Given the description of an element on the screen output the (x, y) to click on. 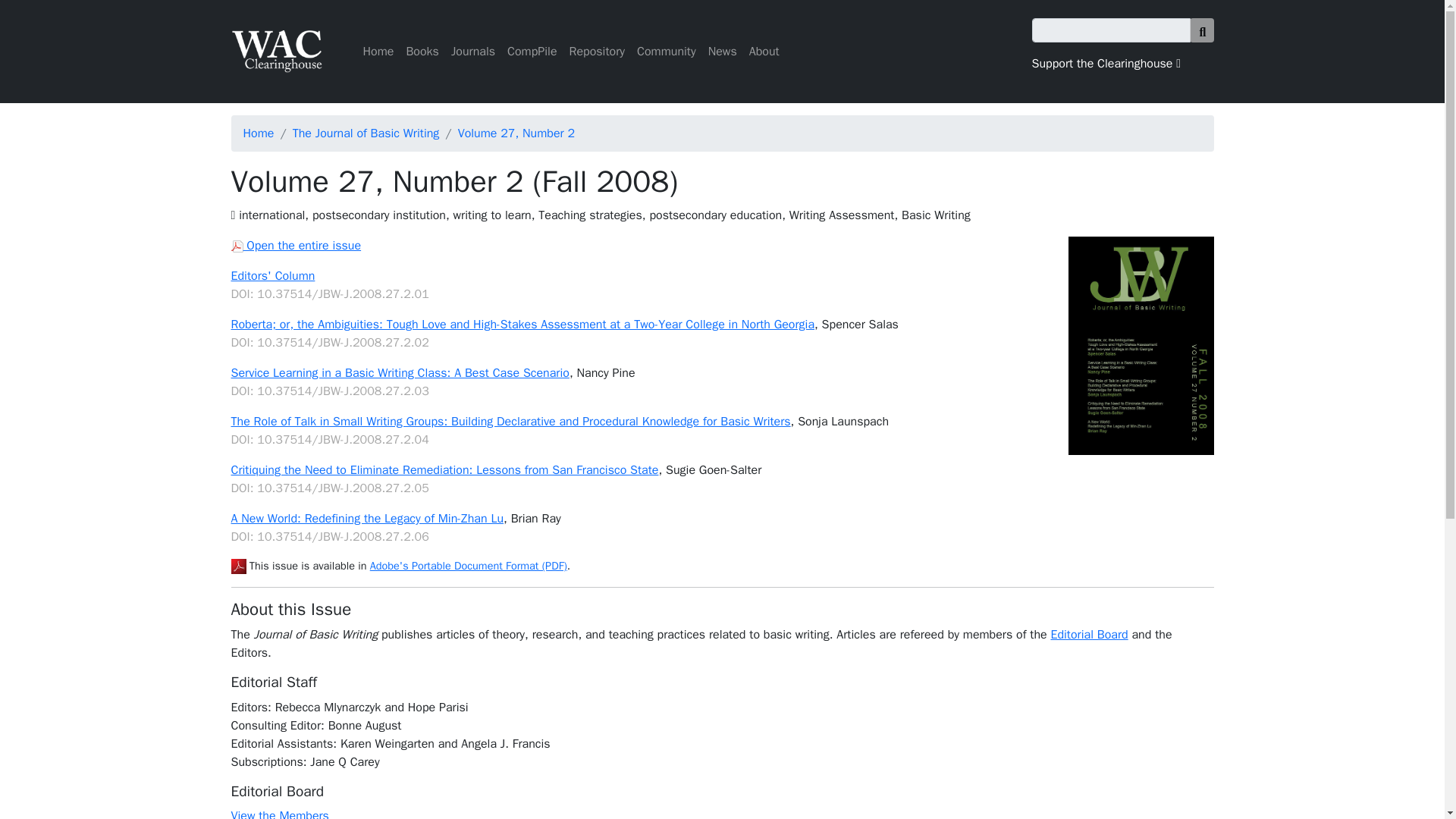
View the Editorial Board (1087, 634)
Support Open-Access Publishing (1105, 63)
Install Acrobat Reader (238, 566)
The Journal of Basic Writing (365, 133)
Editorial Board (1087, 634)
Welcome to the WAC Clearinghouse (275, 51)
Journals (472, 51)
Repository (596, 51)
Volume 27, Number 2 (516, 133)
 Open the entire issue (295, 245)
Support the Clearinghouse  (1105, 63)
View this Issue in a Format Optimized for Viewing on the Web (295, 245)
A New World: Redefining the Legacy of Min-Zhan Lu (366, 518)
Books (421, 51)
